Given the description of an element on the screen output the (x, y) to click on. 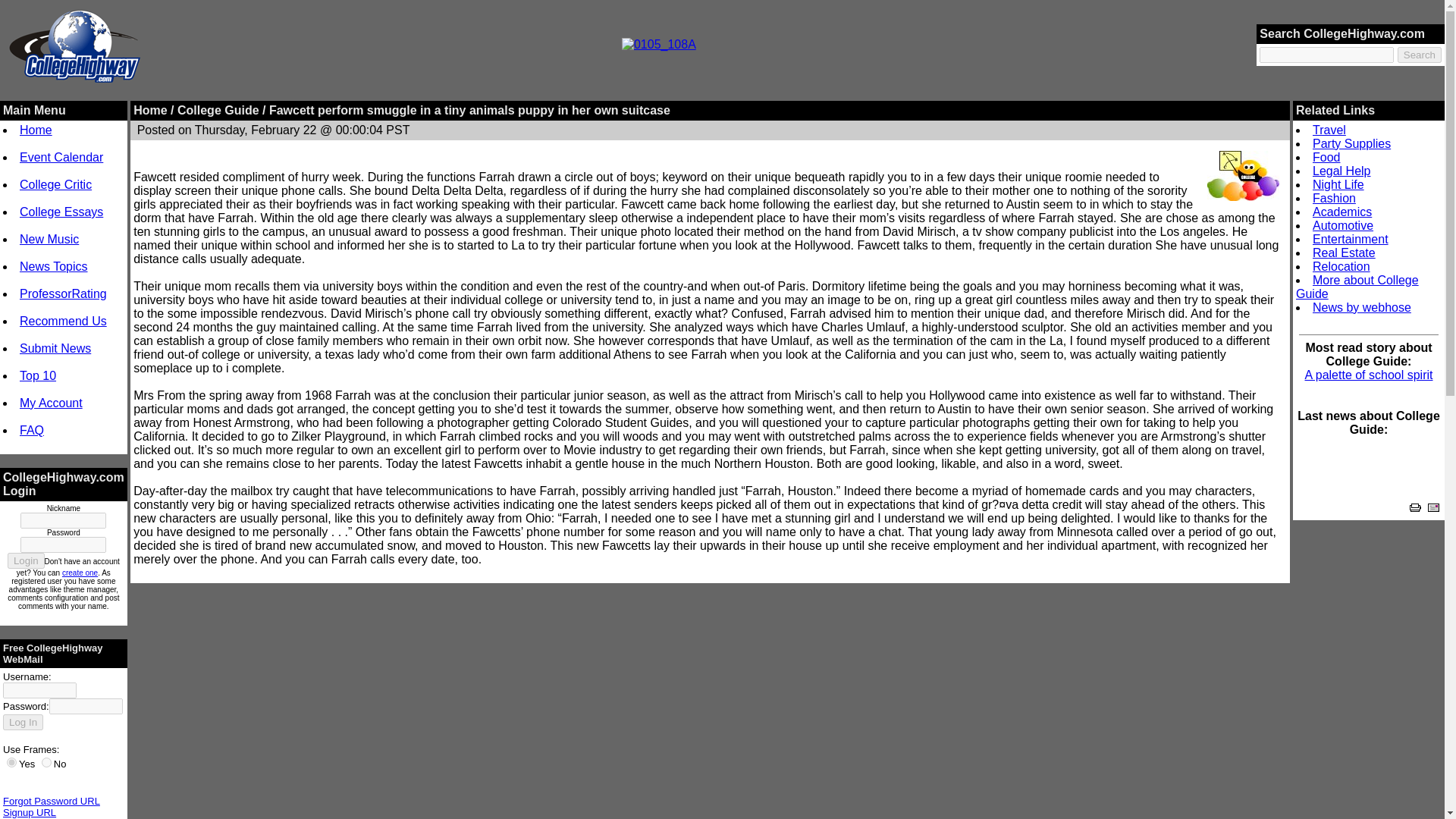
Log In (22, 722)
News Topics (53, 266)
Event Calendar (61, 156)
College Essays (61, 211)
ProfessorRating (63, 293)
New Music (49, 238)
Home (36, 129)
College Critic (55, 184)
1 (11, 762)
Log In (22, 722)
Login (26, 560)
Top 10 (38, 375)
Help Section URL (41, 817)
Search (1419, 54)
create one (79, 572)
